Given the description of an element on the screen output the (x, y) to click on. 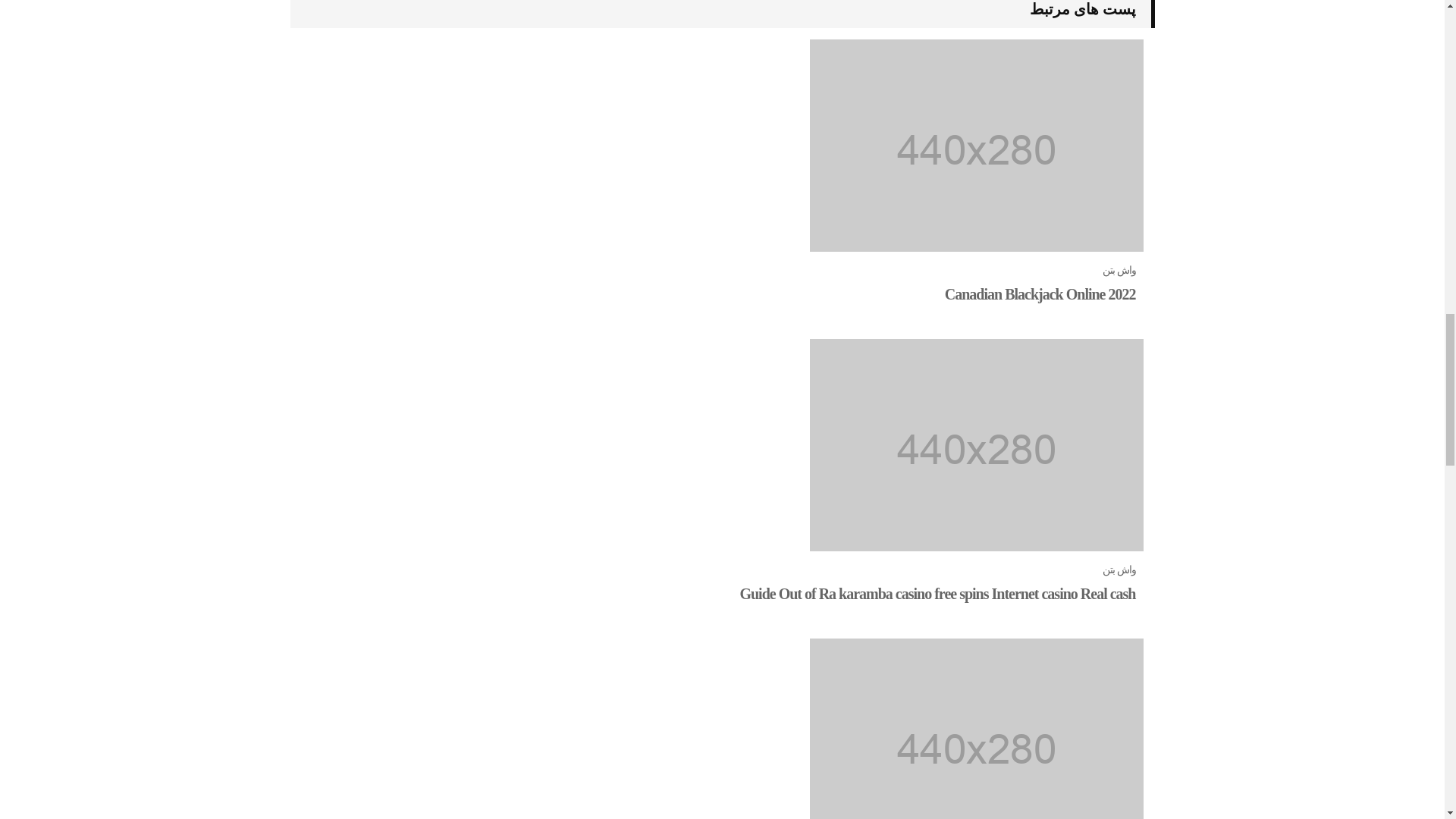
Canadian Blackjack Online 2022 (1039, 293)
